Given the description of an element on the screen output the (x, y) to click on. 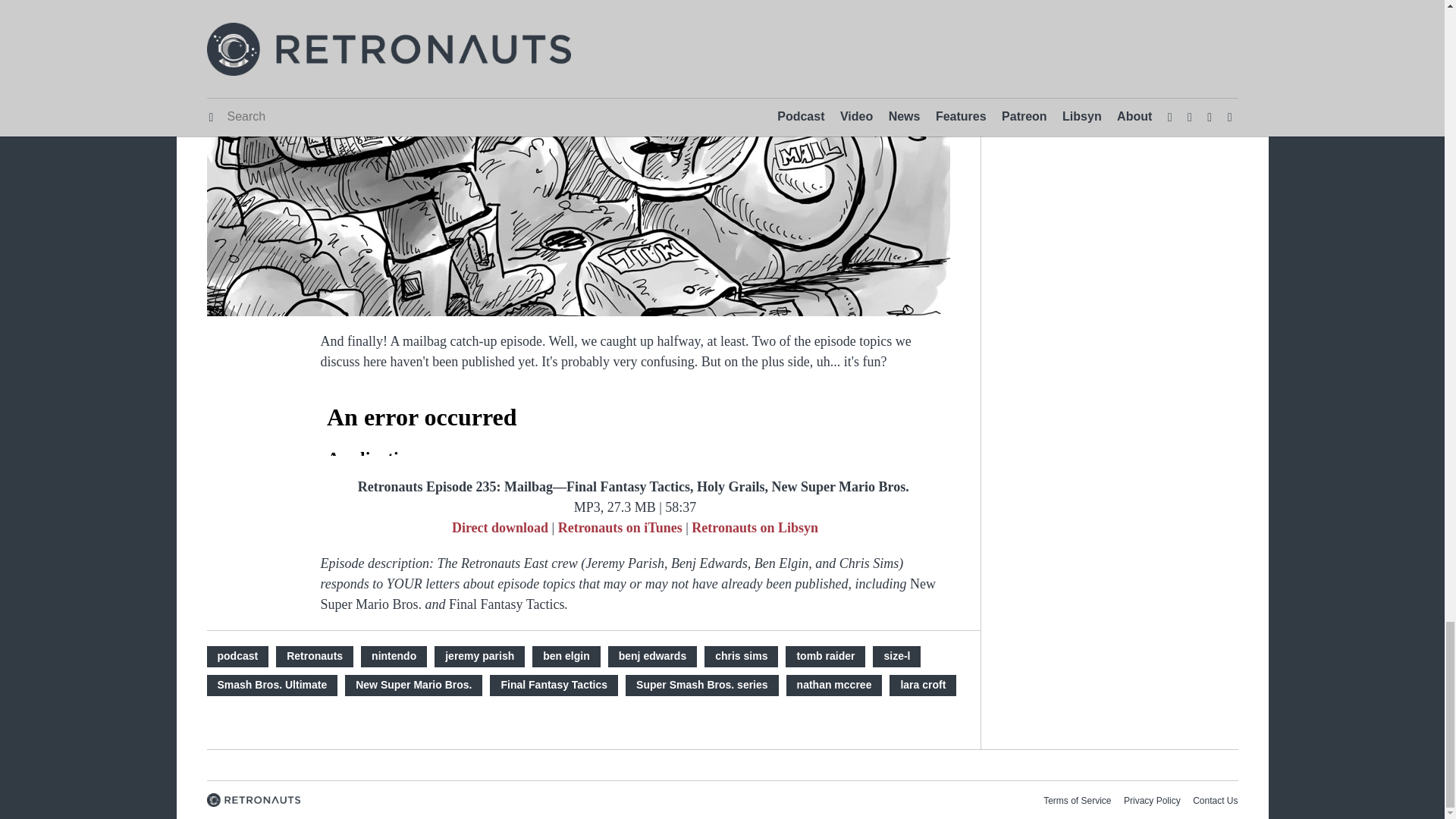
Retronauts on iTunes (619, 526)
podcast (236, 655)
benj edwards (652, 655)
ben elgin (565, 655)
jeremy parish (478, 655)
Retronauts (314, 655)
Retronauts on Libsyn (754, 526)
chris sims (740, 655)
Direct download (499, 526)
